Given the description of an element on the screen output the (x, y) to click on. 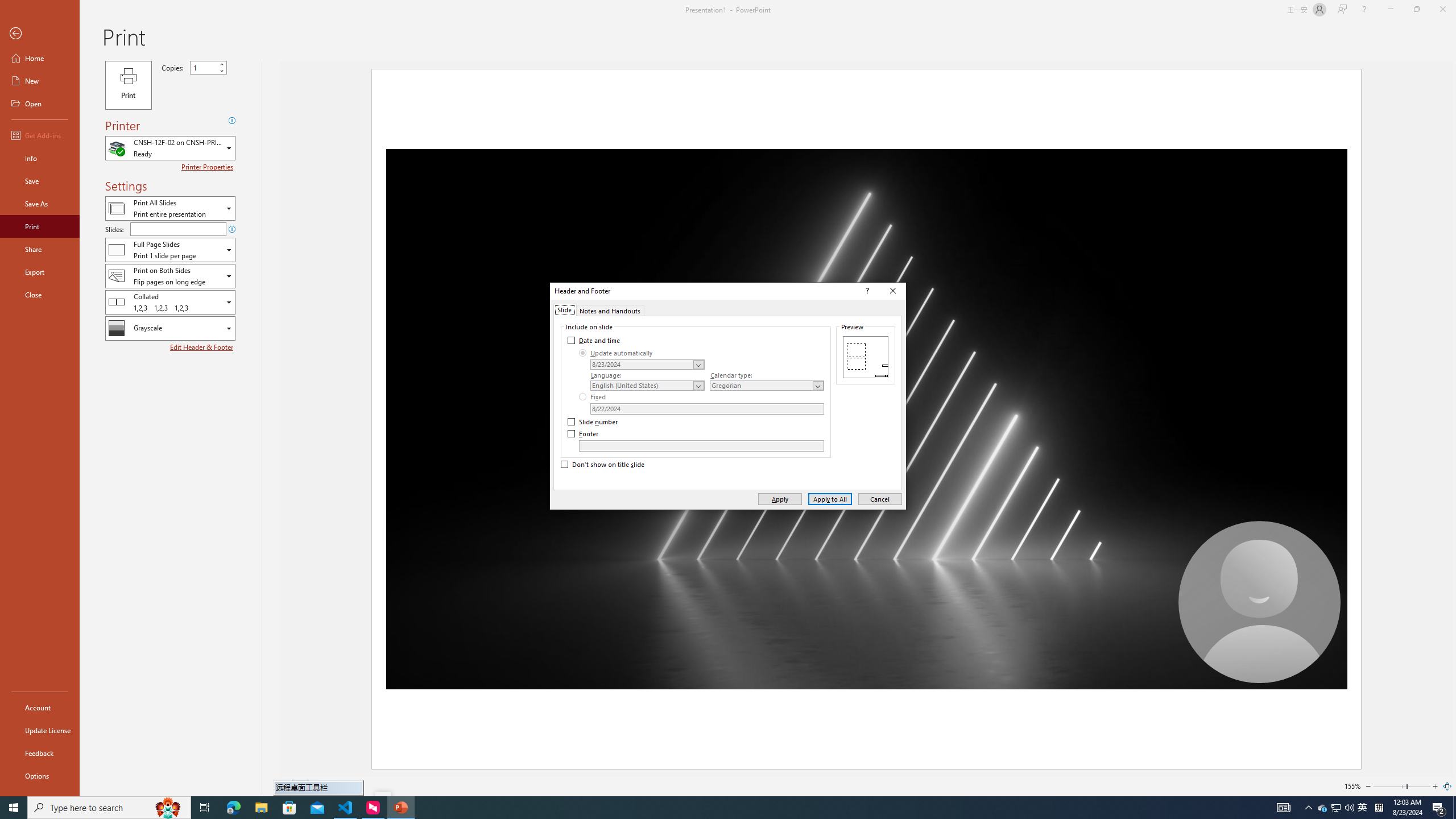
More (220, 64)
Options (40, 775)
Footer (701, 445)
Don't show on title slide (602, 464)
Zoom to Page (1447, 786)
Page right (1418, 786)
New (40, 80)
Print (40, 225)
